Given the description of an element on the screen output the (x, y) to click on. 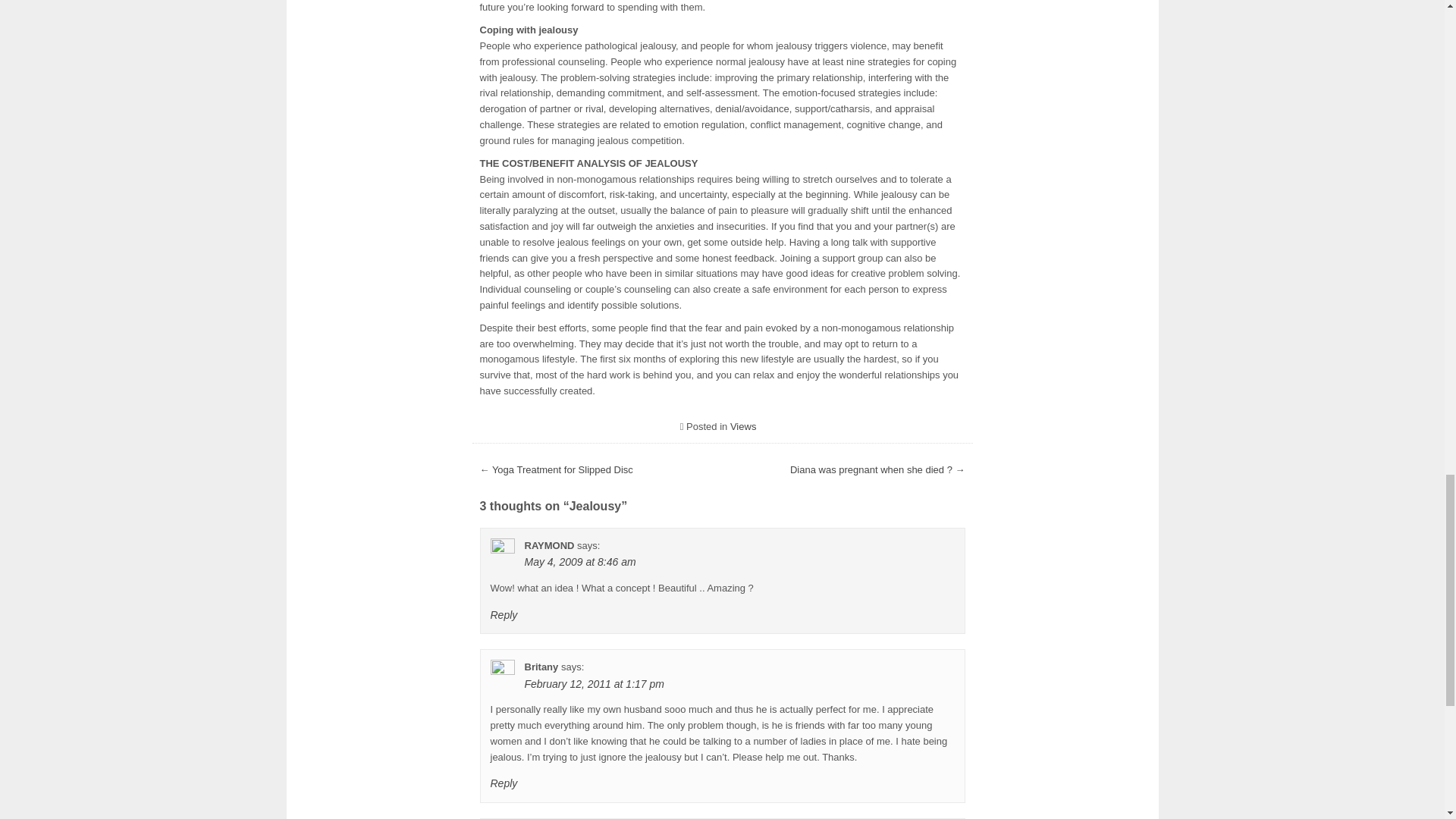
May 4, 2009 at 8:46 am (580, 562)
February 12, 2011 at 1:17 pm (593, 684)
Reply (502, 614)
Views (742, 426)
Reply (502, 783)
